Given the description of an element on the screen output the (x, y) to click on. 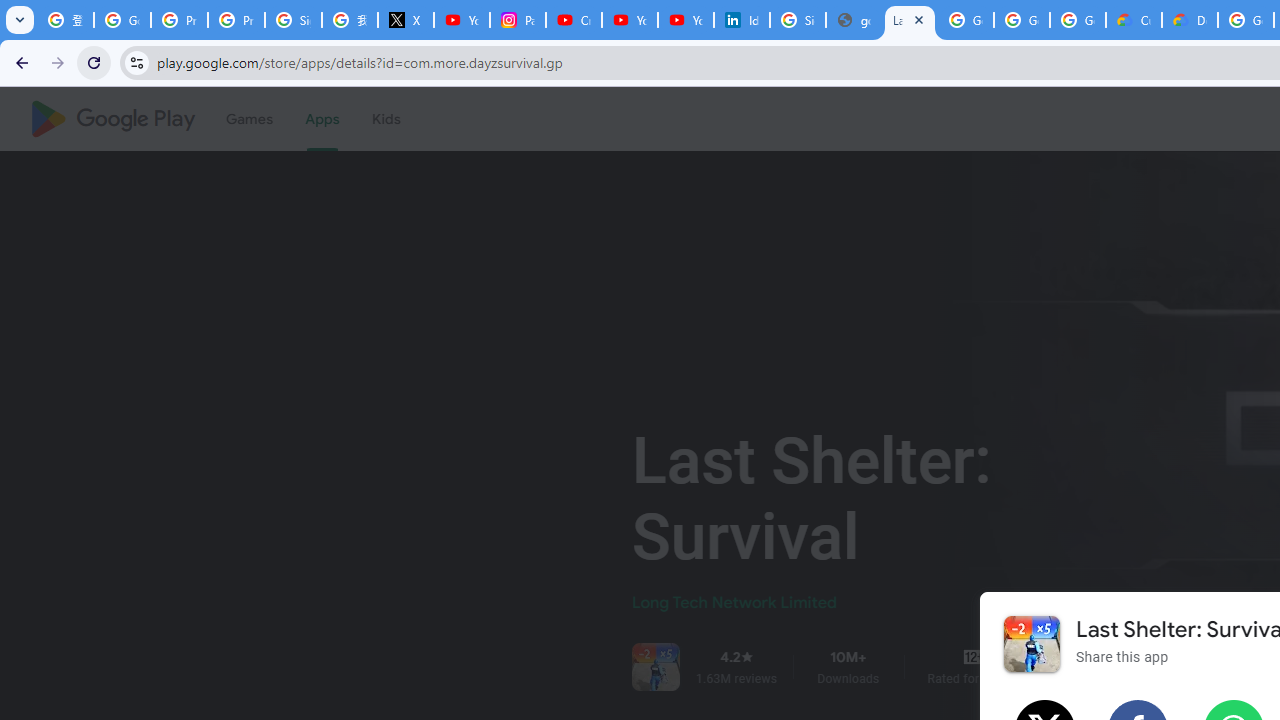
Privacy Help Center - Policies Help (235, 20)
YouTube Culture & Trends - YouTube Top 10, 2021 (685, 20)
Privacy Help Center - Policies Help (179, 20)
Google Workspace - Specific Terms (1077, 20)
Last Shelter: Survival - Apps on Google Play (909, 20)
Google Workspace - Specific Terms (1021, 20)
